Given the description of an element on the screen output the (x, y) to click on. 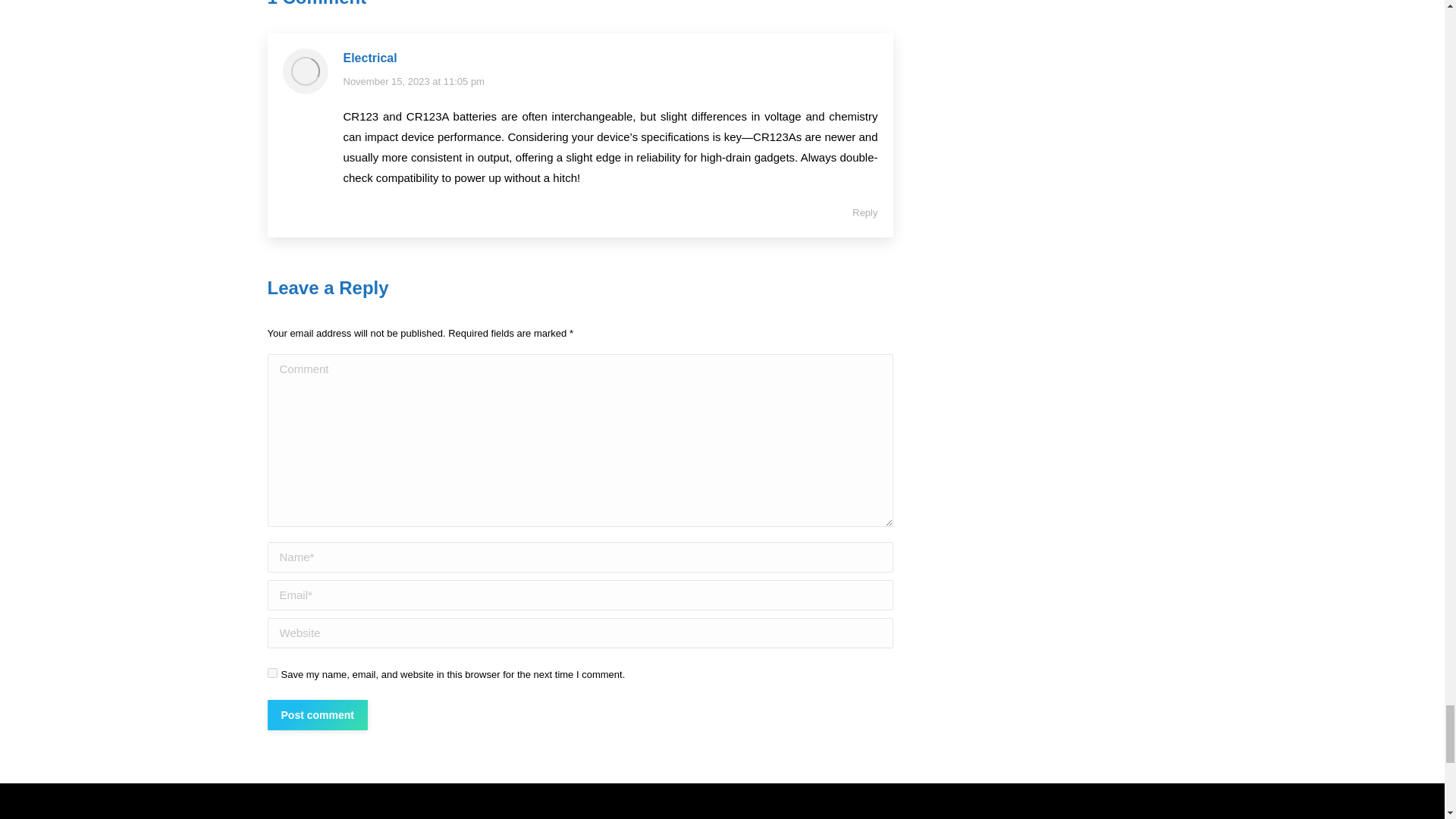
yes (271, 673)
